Given the description of an element on the screen output the (x, y) to click on. 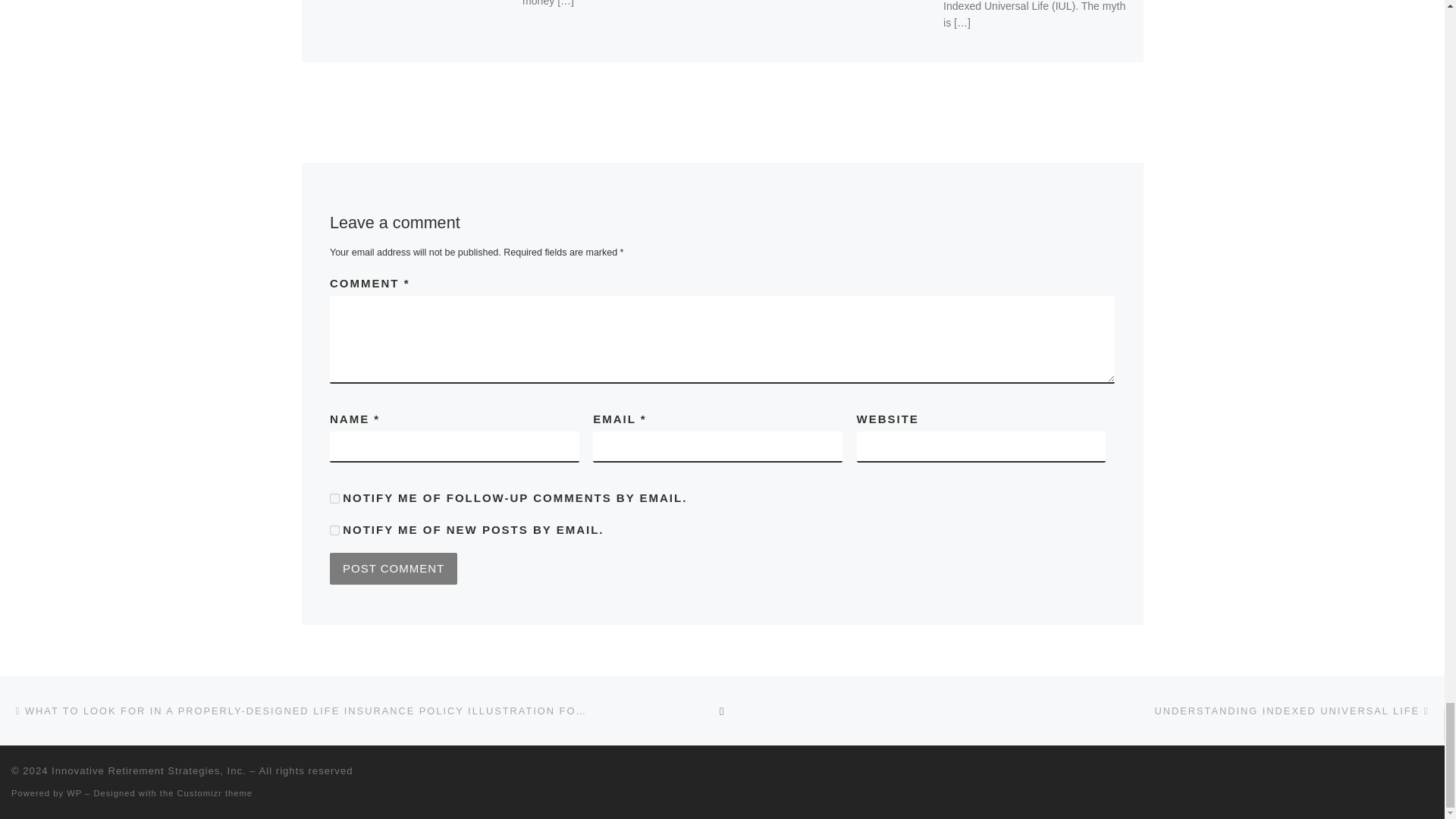
Post Comment (393, 568)
subscribe (334, 498)
subscribe (334, 530)
